Given the description of an element on the screen output the (x, y) to click on. 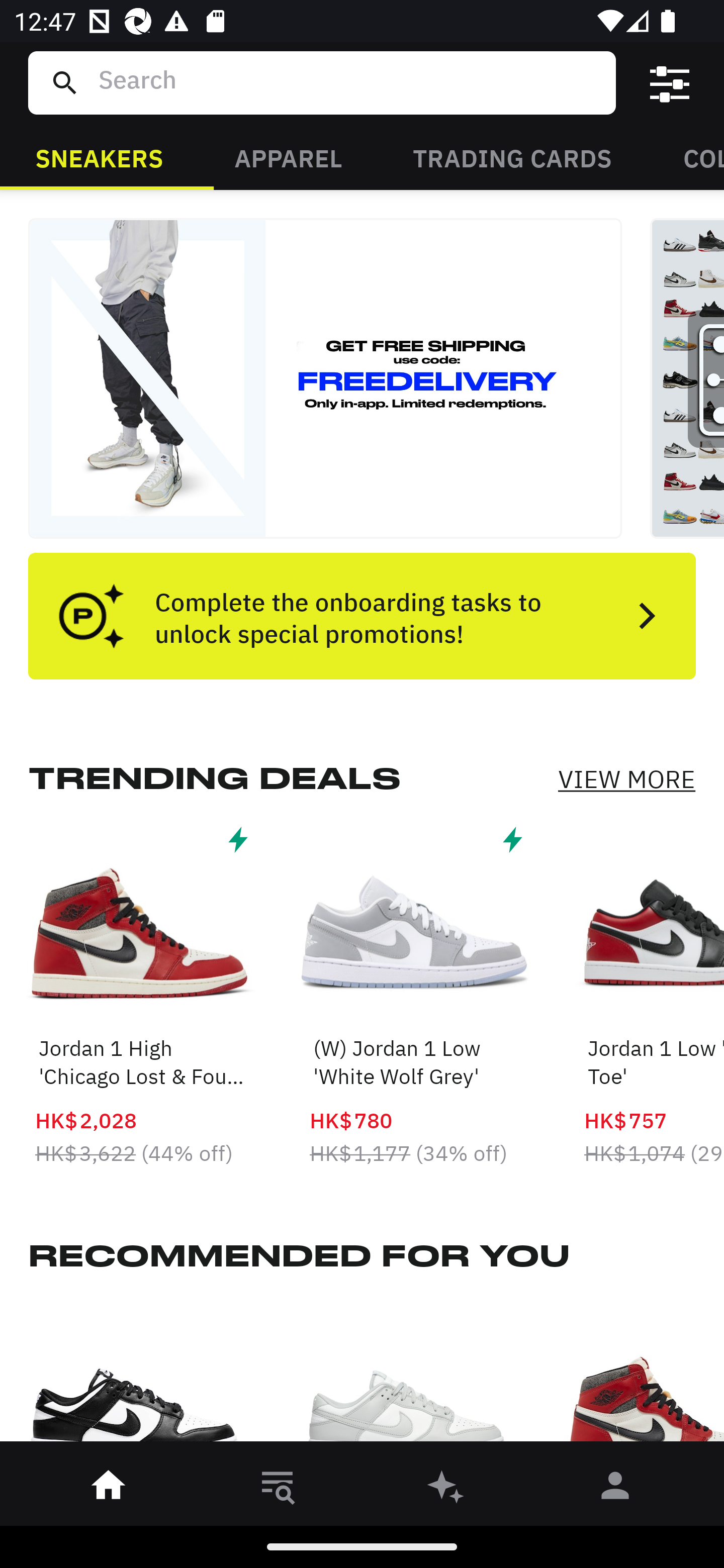
Search (349, 82)
 (669, 82)
SNEAKERS (99, 156)
APPAREL (287, 156)
TRADING CARDS (512, 156)
VIEW MORE (626, 779)
󰋜 (108, 1488)
󱎸 (277, 1488)
󰫢 (446, 1488)
󰀄 (615, 1488)
